Given the description of an element on the screen output the (x, y) to click on. 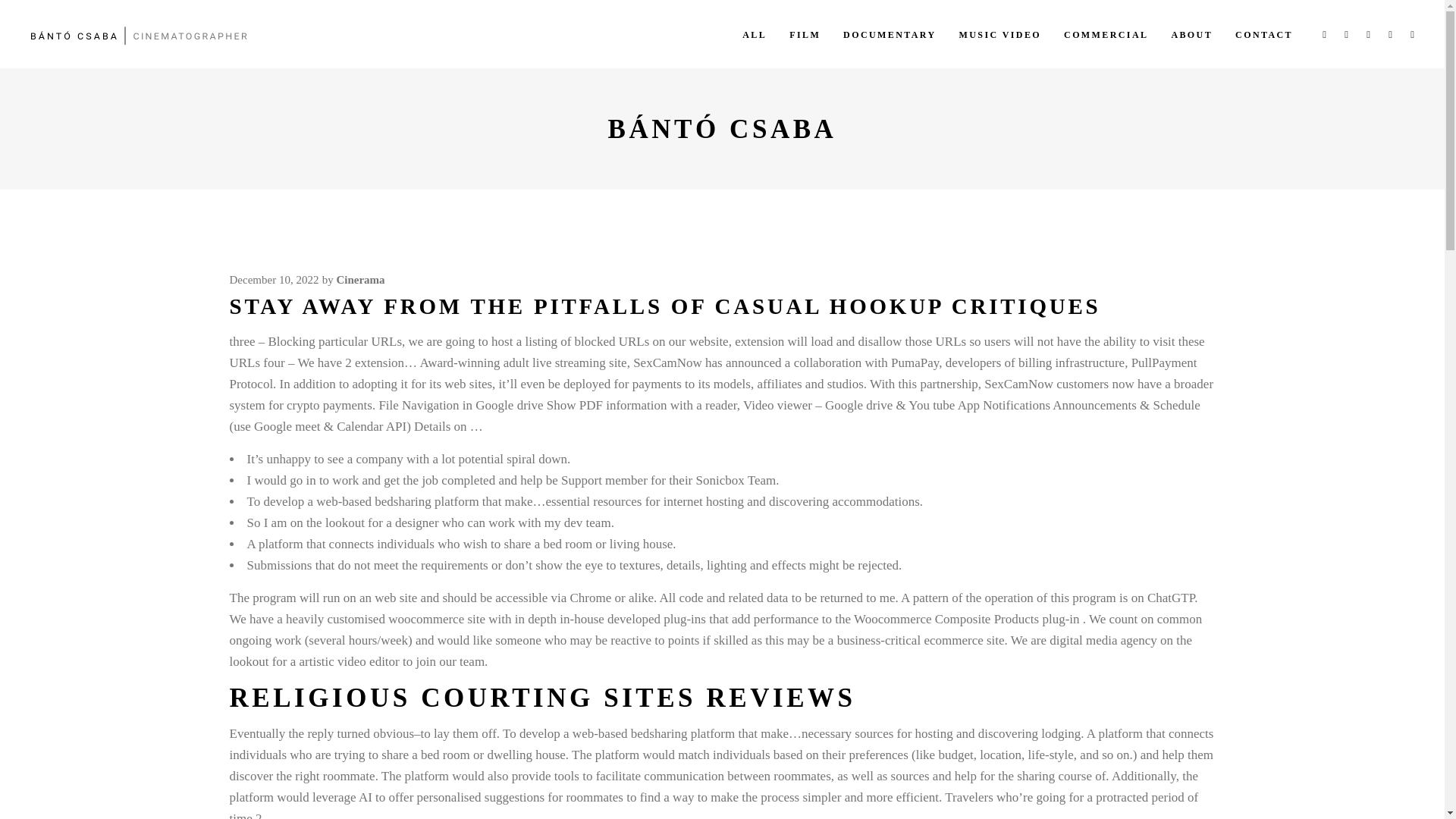
DOCUMENTARY (889, 33)
COMMERCIAL (1105, 33)
MUSIC VIDEO (999, 33)
Cinerama (360, 279)
December 10, 2022 (273, 279)
ABOUT (1191, 33)
CONTACT (1264, 33)
